Given the description of an element on the screen output the (x, y) to click on. 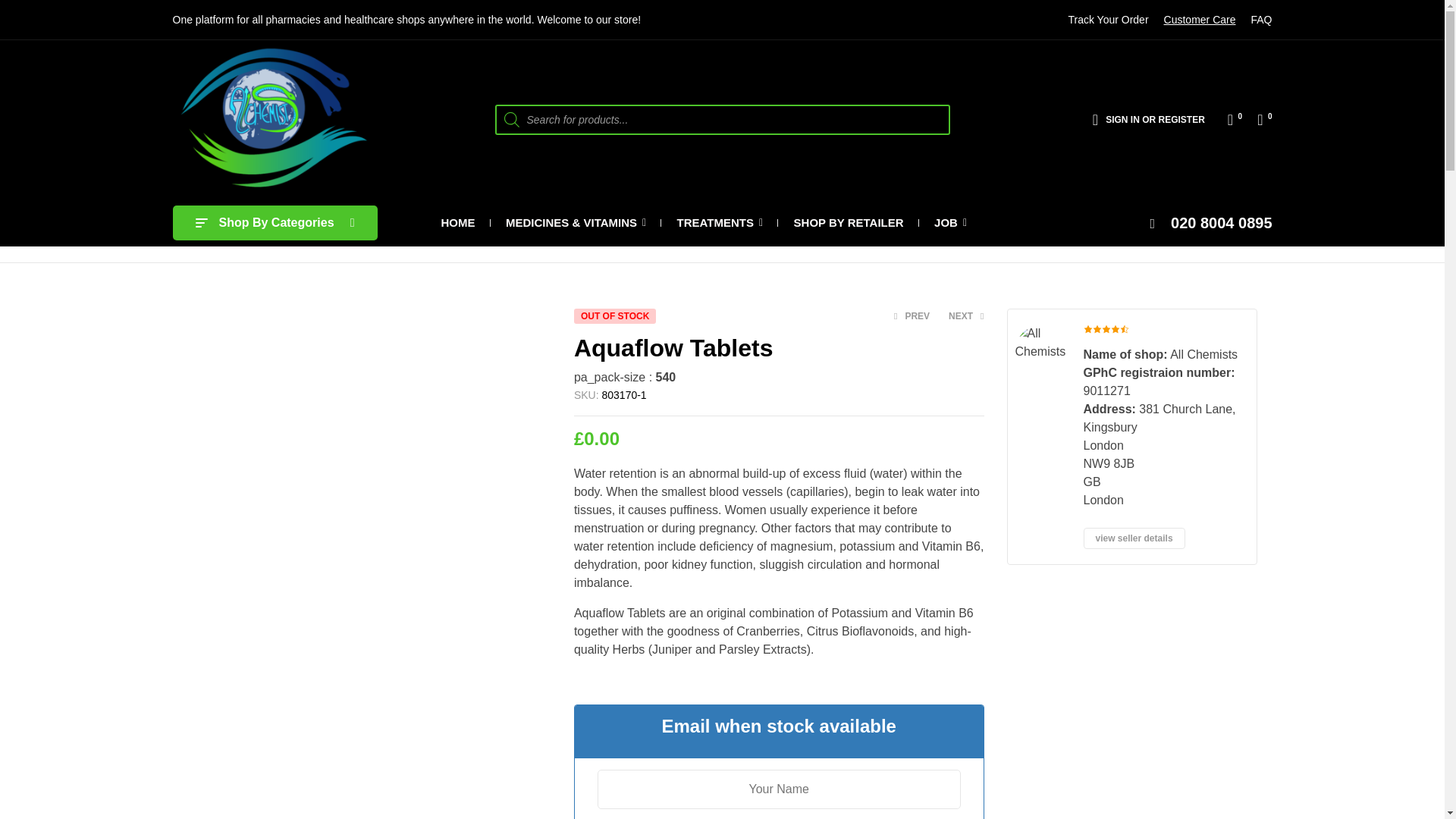
Track Your Order (1107, 19)
FAQ (1260, 19)
Customer Care (1199, 19)
